Given the description of an element on the screen output the (x, y) to click on. 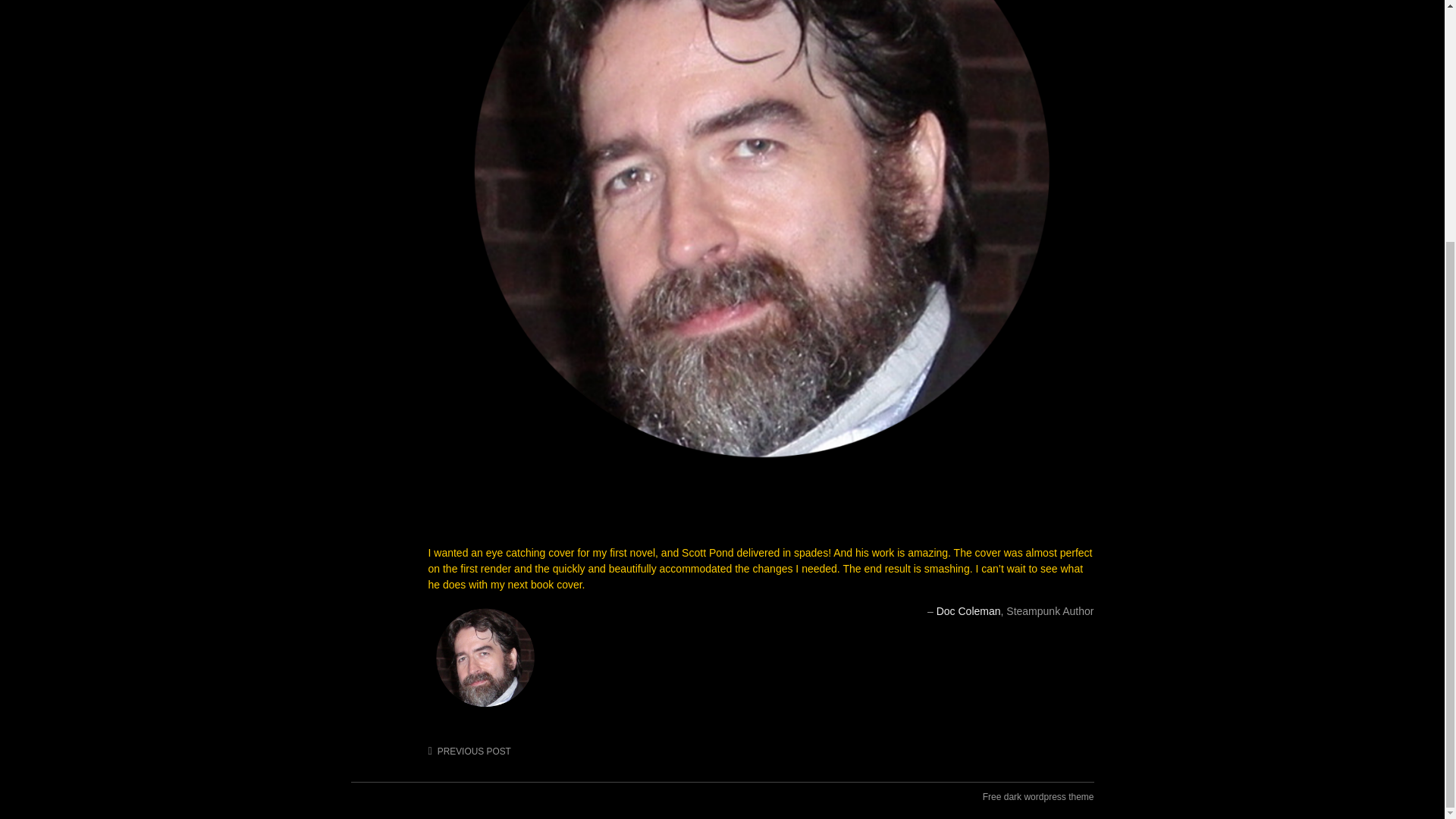
Doc Coleman (968, 611)
PREVIOUS POST (469, 751)
Free dark wordpress theme (1038, 796)
